Given the description of an element on the screen output the (x, y) to click on. 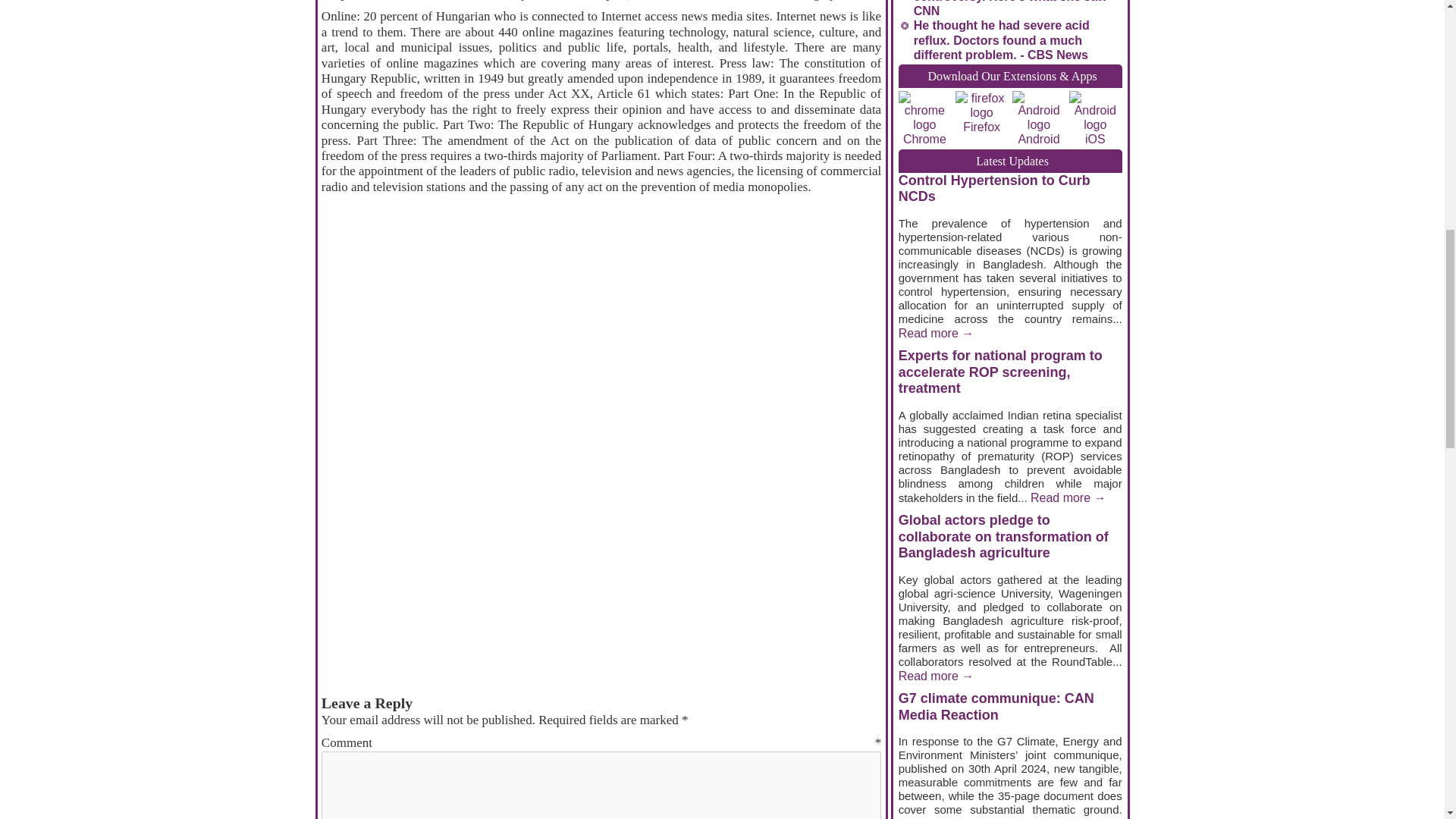
Advertisement (600, 277)
G7 climate communique: CAN Media Reaction (996, 706)
Control Hypertension to Curb NCDs (994, 188)
